Given the description of an element on the screen output the (x, y) to click on. 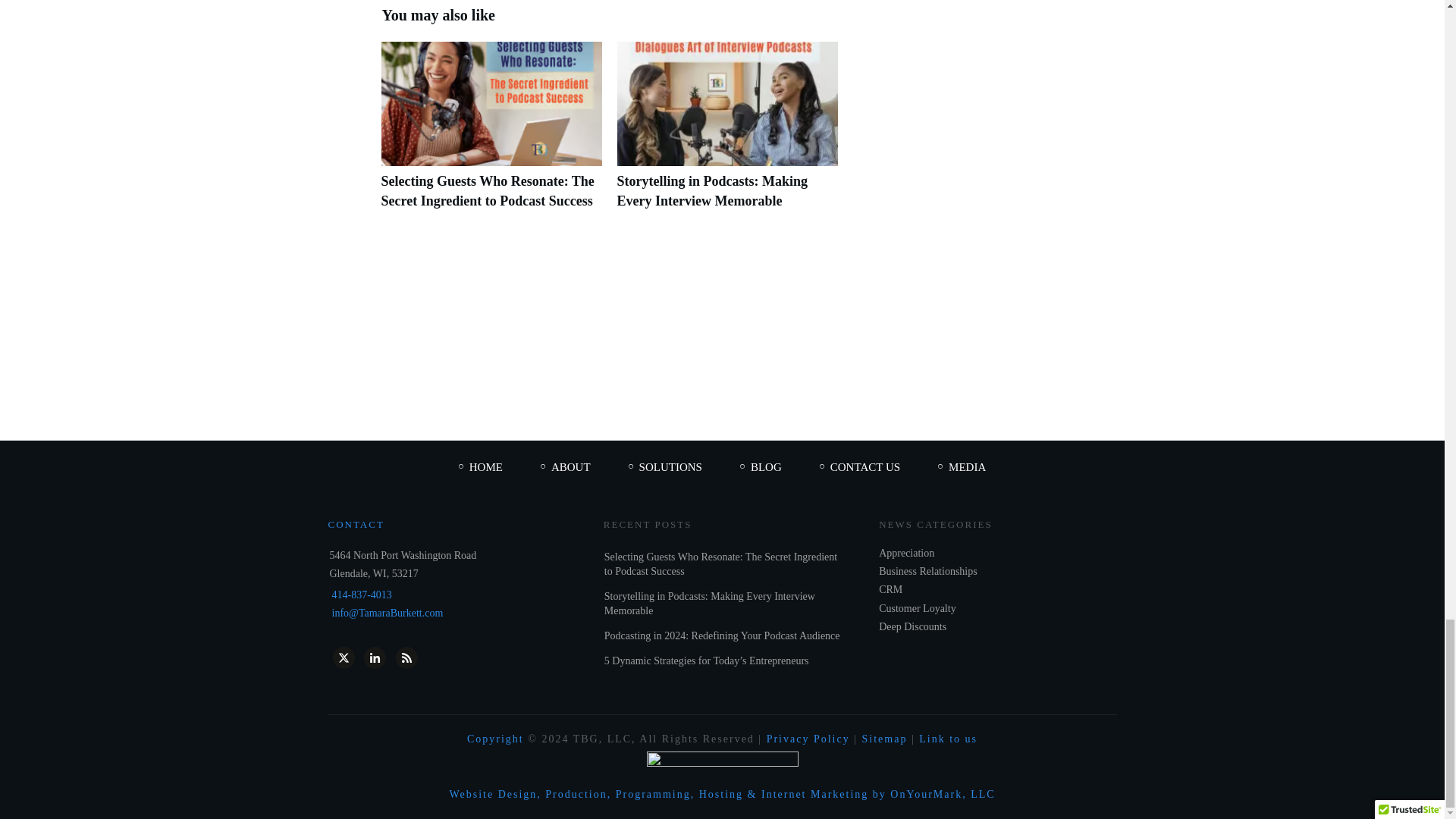
Storytelling in Podcasts: Making Every Interview Memorable (712, 190)
Storytelling in Podcasts: Making Every Interview Memorable (727, 133)
Storytelling in Podcasts: Making Every Interview Memorable (709, 603)
Storytelling in Podcasts: Making Every Interview Memorable (712, 190)
